Given the description of an element on the screen output the (x, y) to click on. 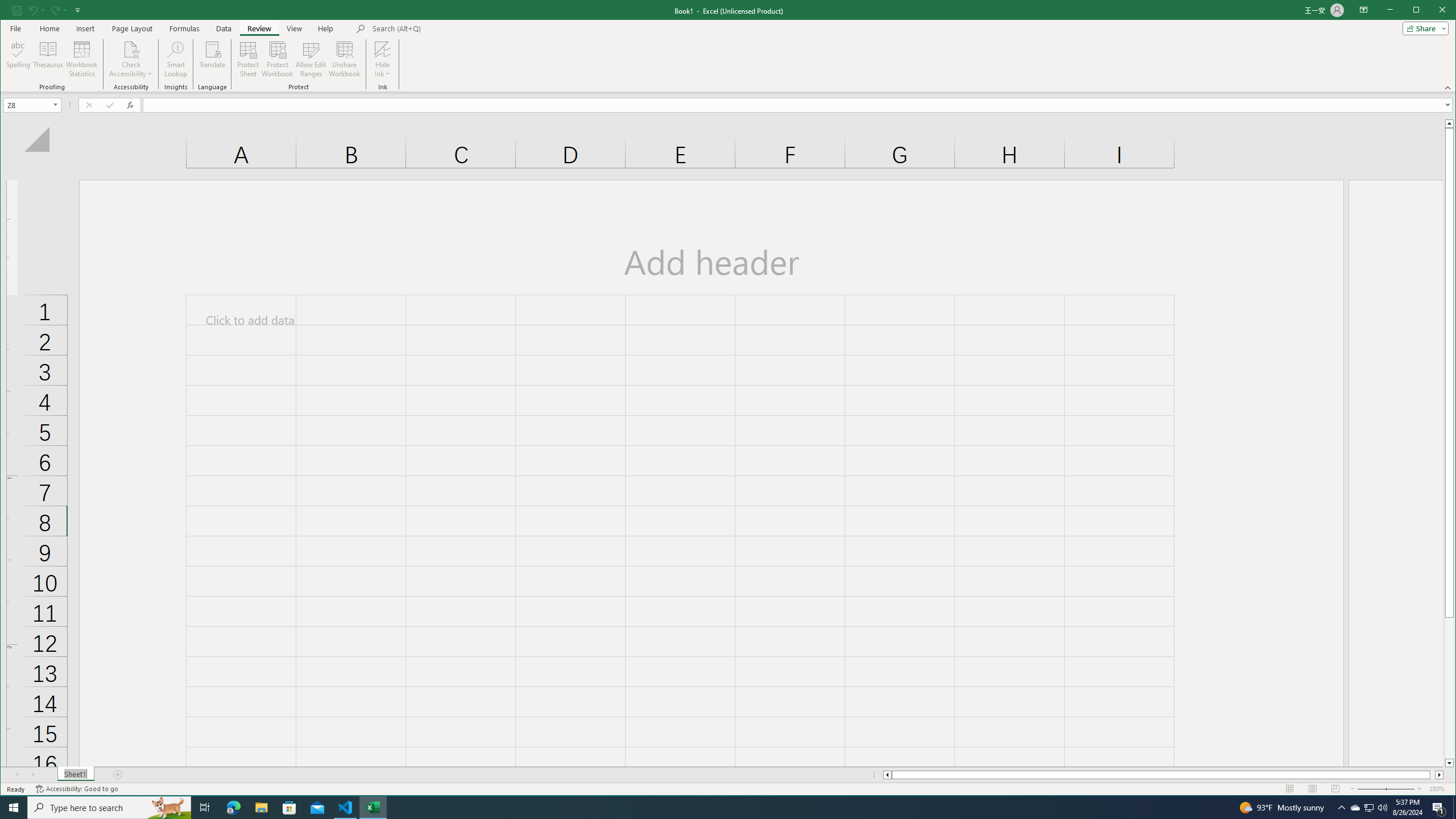
Thesaurus... (48, 59)
Sheet Tab (75, 774)
